Given the description of an element on the screen output the (x, y) to click on. 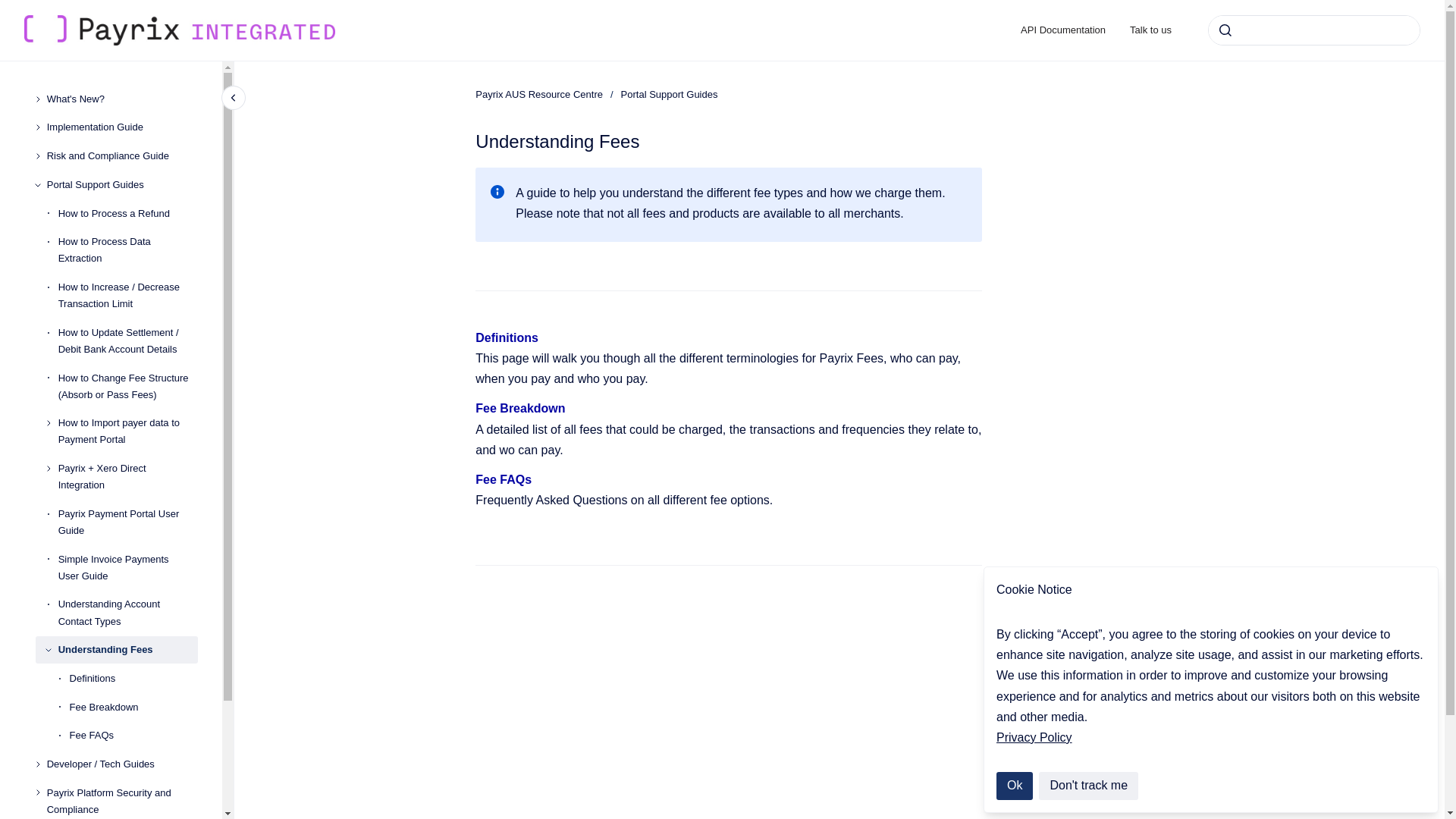
Risk and Compliance Guide (122, 155)
Portal Support Guides (122, 185)
How to Process a Refund (128, 213)
Payrix Payment Portal User Guide (128, 522)
Ok (1013, 786)
Fee FAQs (133, 736)
Understanding Fees (128, 649)
Implementation Guide (122, 127)
Fee Breakdown (133, 707)
Go to homepage (179, 30)
